Given the description of an element on the screen output the (x, y) to click on. 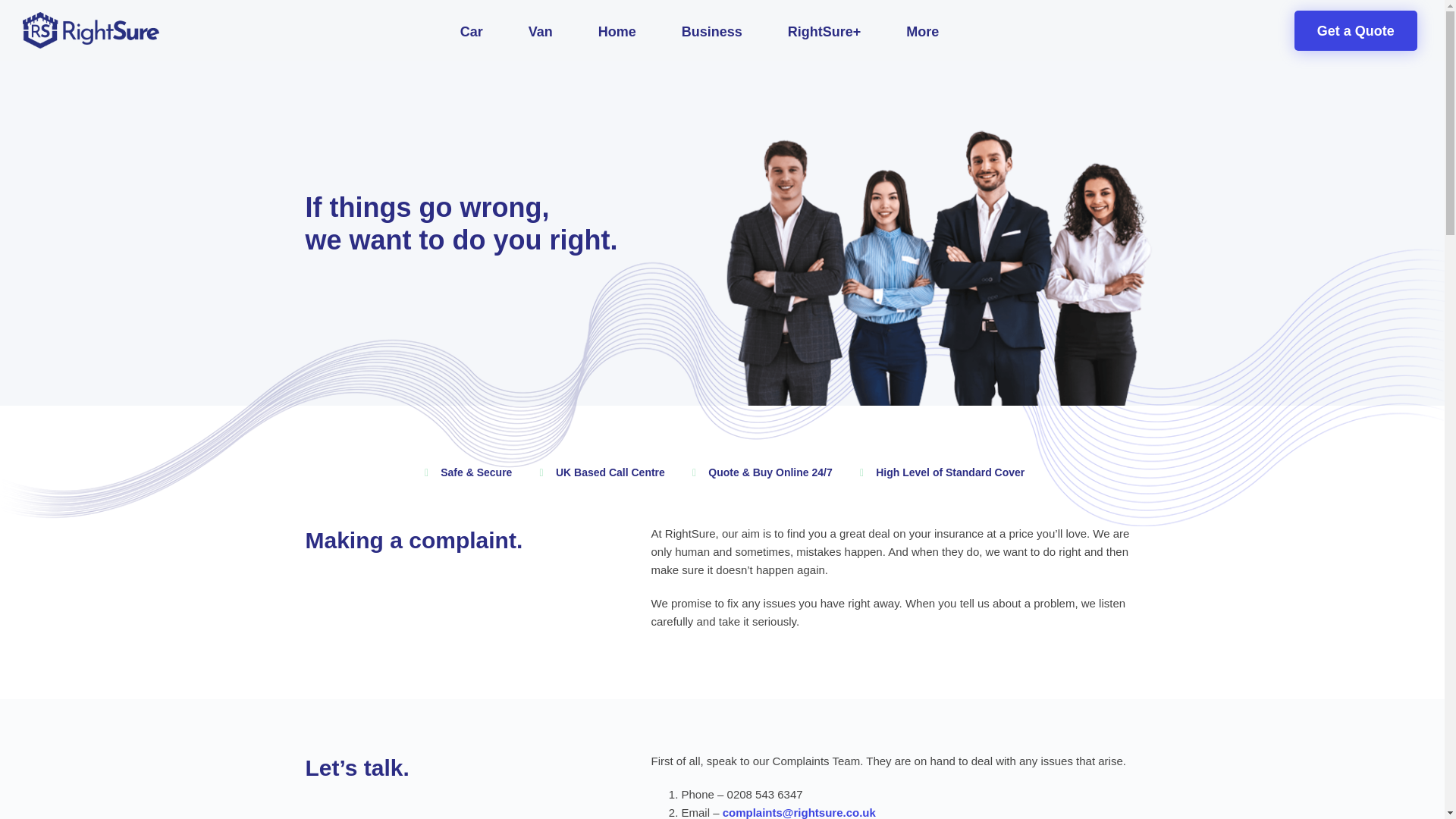
Get a Quote (1355, 30)
Business (711, 32)
Home (617, 32)
